Given the description of an element on the screen output the (x, y) to click on. 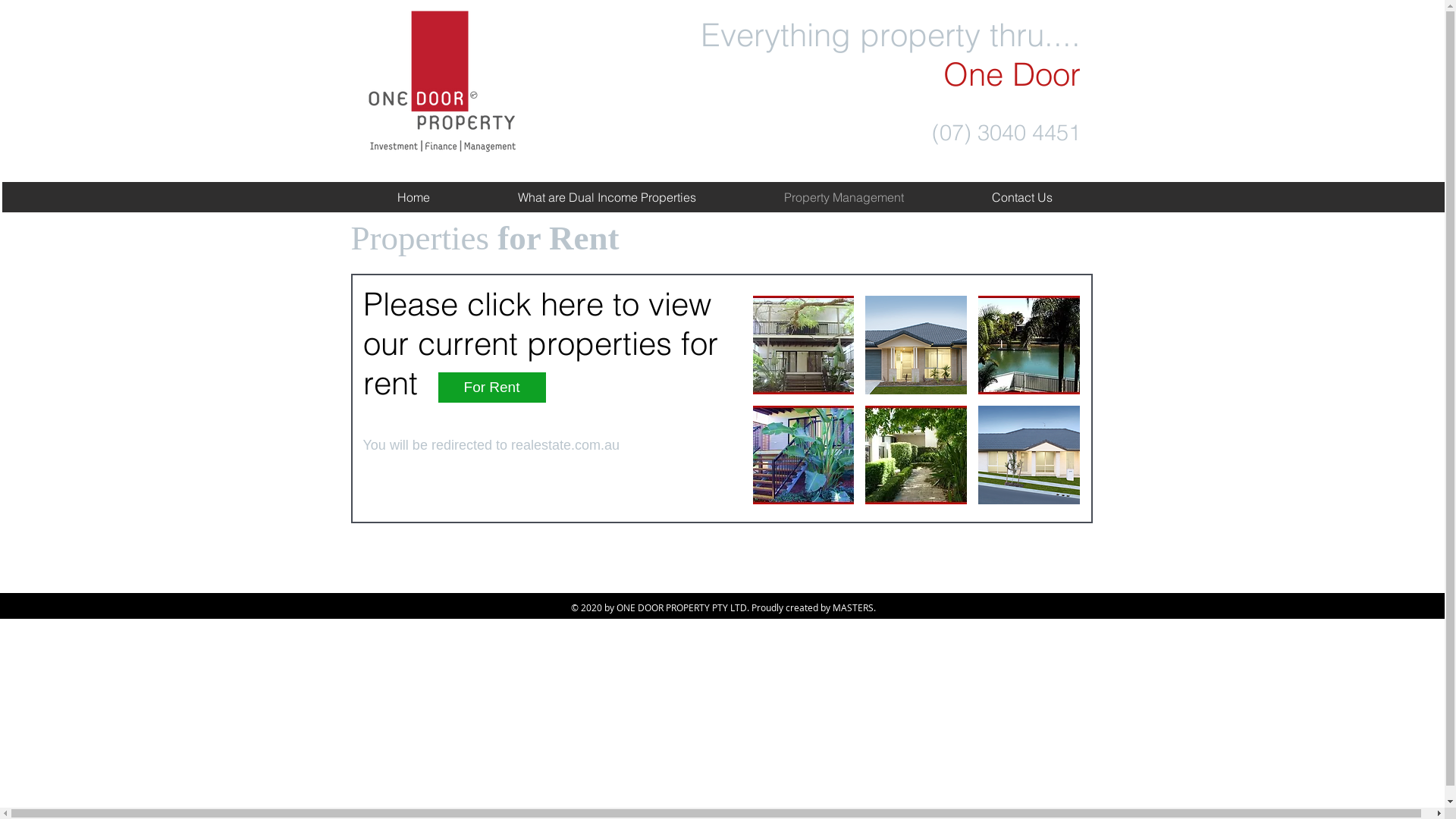
Contact Us Element type: text (1021, 197)
Property Management Element type: text (843, 197)
For Rent Element type: text (492, 387)
Home Element type: text (413, 197)
What are Dual Income Properties Element type: text (606, 197)
